Given the description of an element on the screen output the (x, y) to click on. 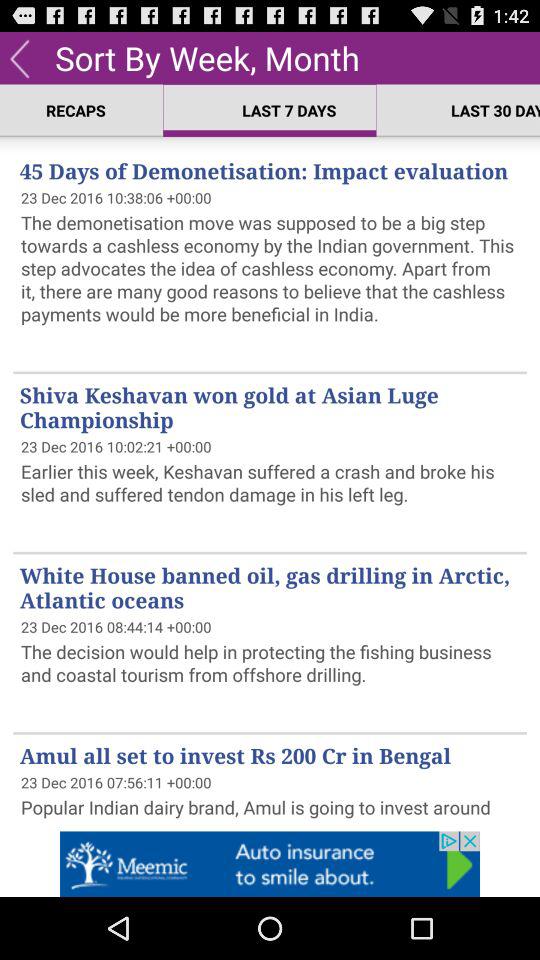
auto option (270, 864)
